Given the description of an element on the screen output the (x, y) to click on. 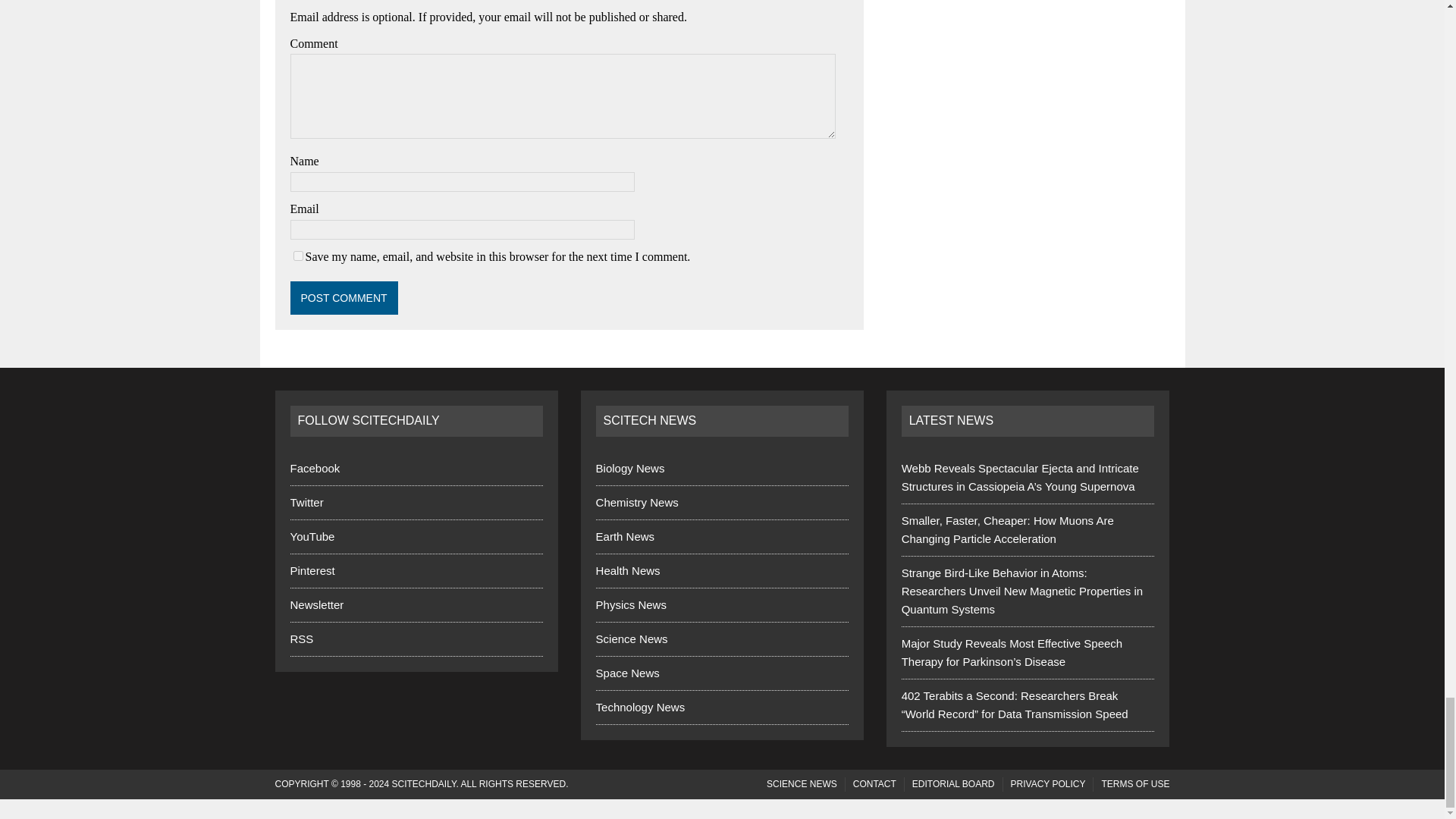
yes (297, 255)
Post Comment (343, 297)
